Given the description of an element on the screen output the (x, y) to click on. 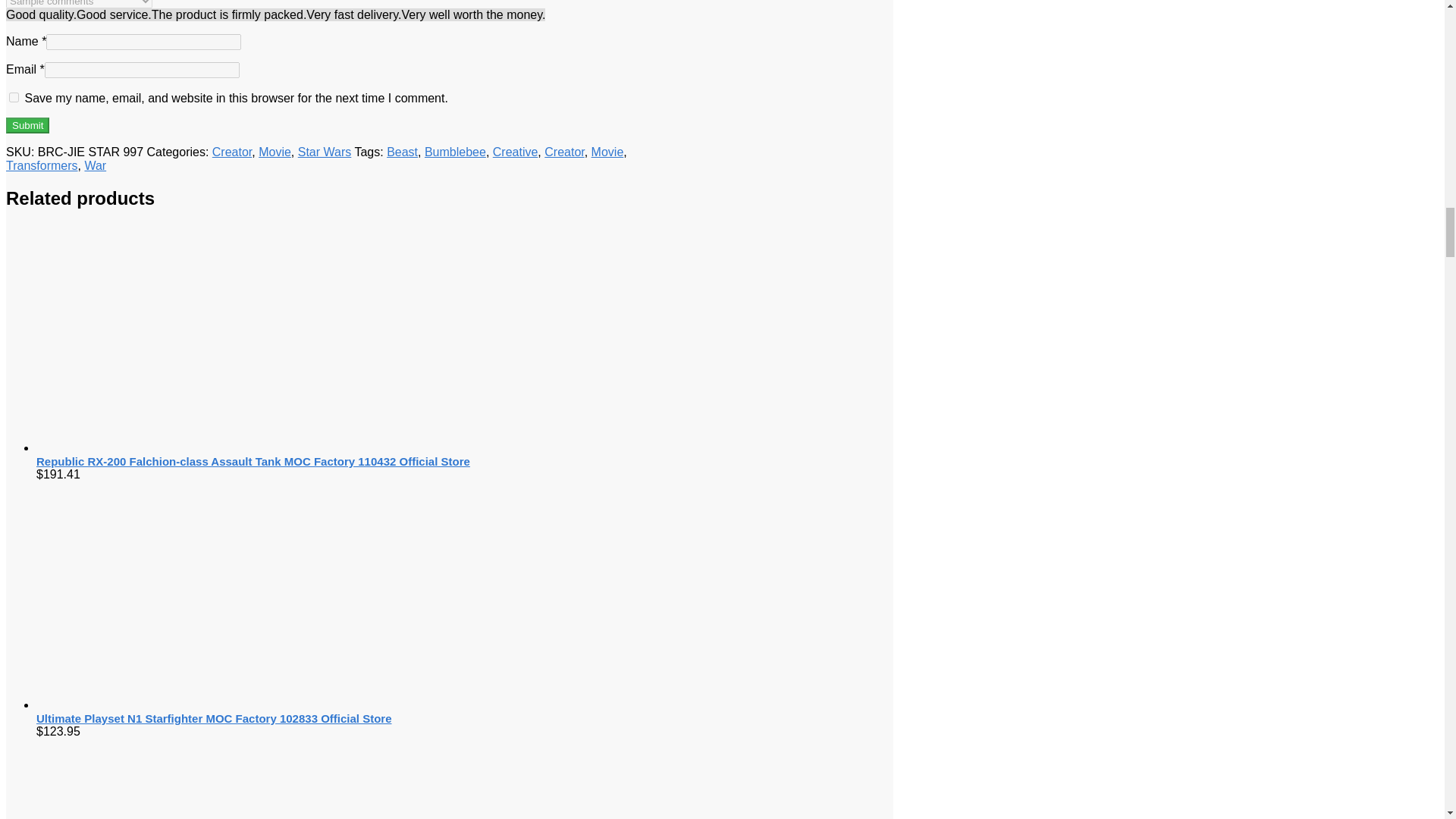
yes (13, 97)
Submit (27, 125)
